Given the description of an element on the screen output the (x, y) to click on. 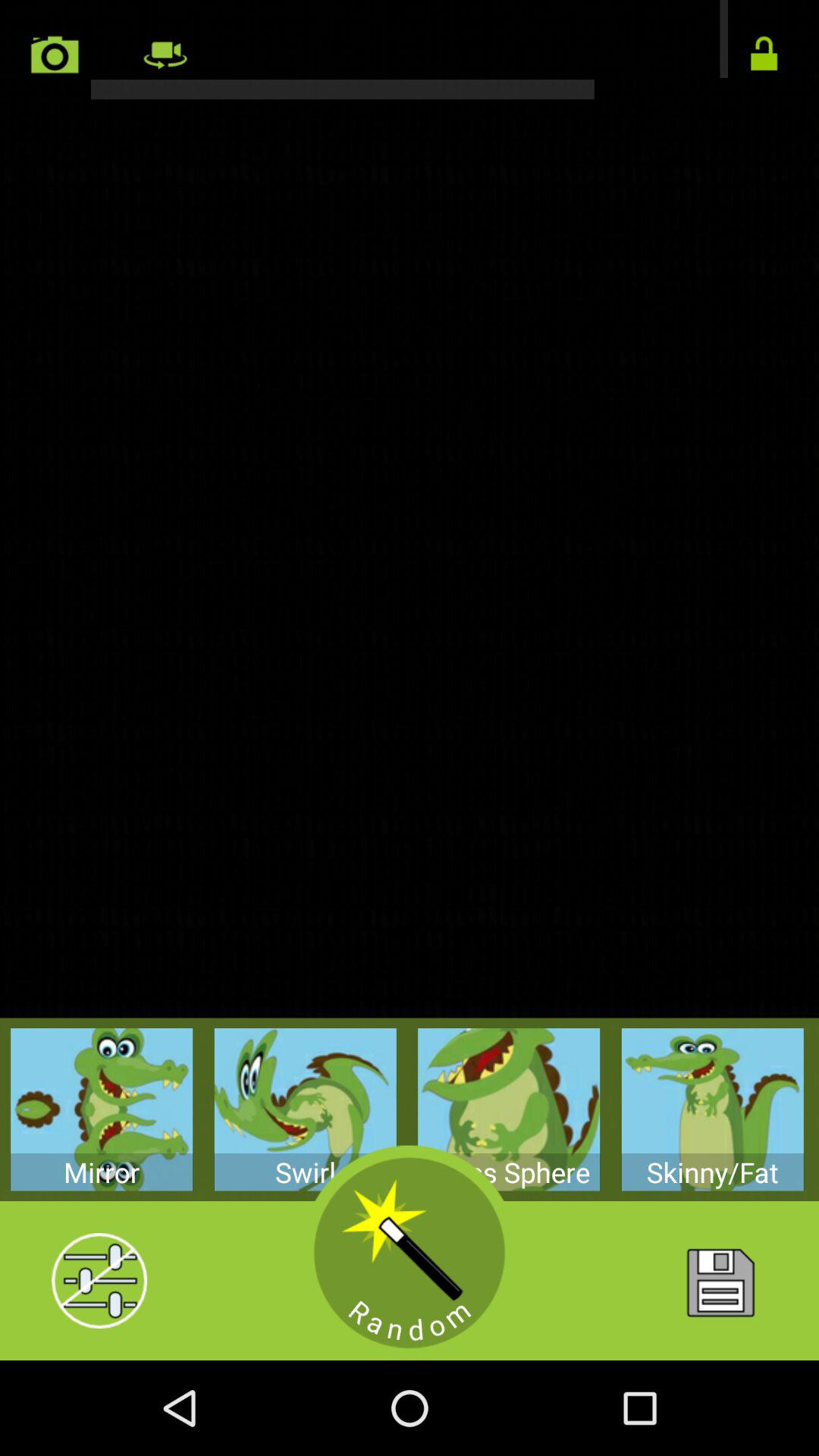
open icon at the top (409, 49)
